Given the description of an element on the screen output the (x, y) to click on. 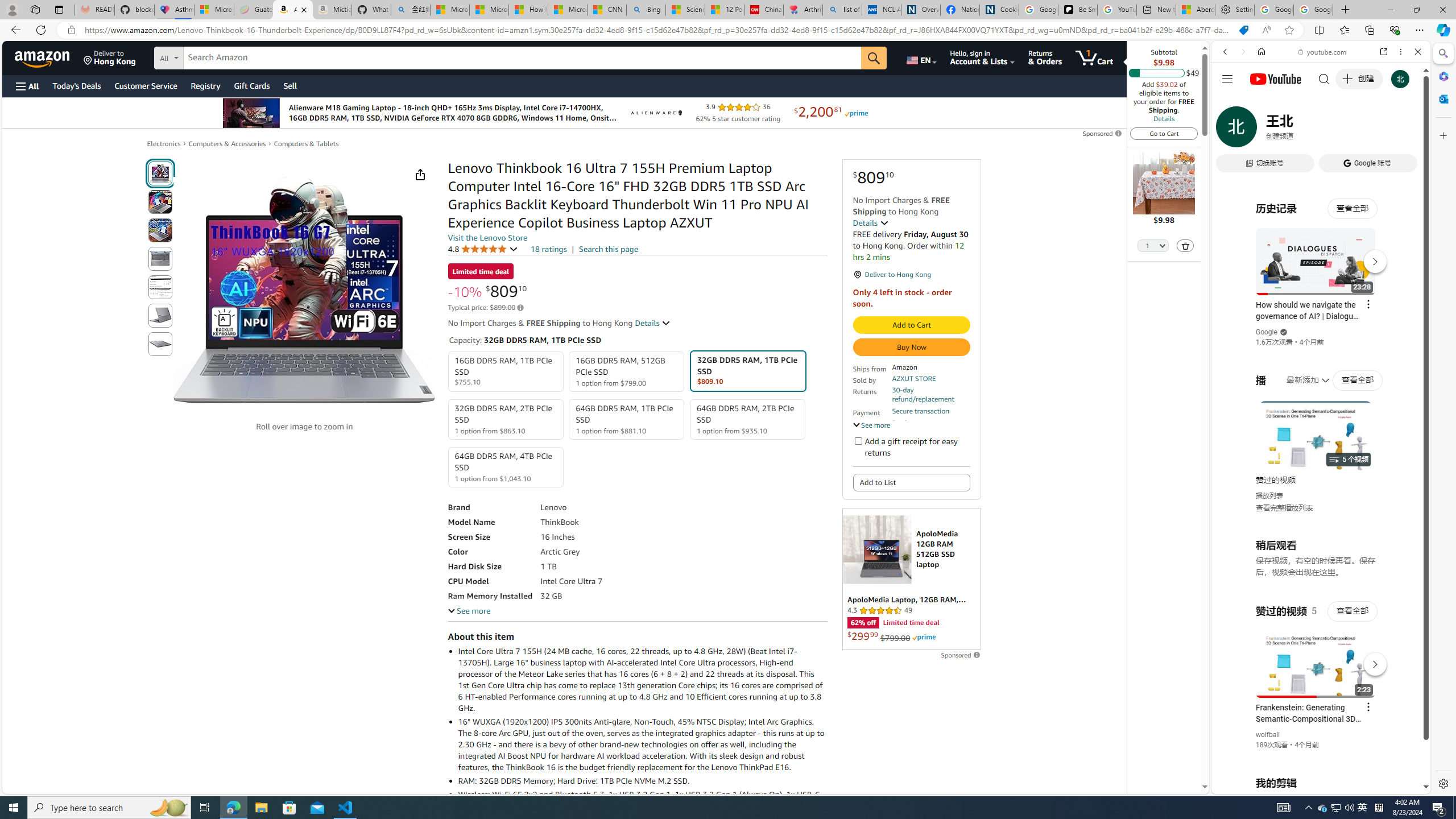
Sell (290, 85)
NCL Adult Asthma Inhaler Choice Guideline (881, 9)
Search Filter, VIDEOS (1300, 129)
App bar (728, 29)
Collections (1369, 29)
YouTube - YouTube (1315, 560)
Address and search bar (658, 29)
Favorites (1344, 29)
Computers & Accessories (226, 143)
you (1315, 755)
Details  (652, 322)
